Given the description of an element on the screen output the (x, y) to click on. 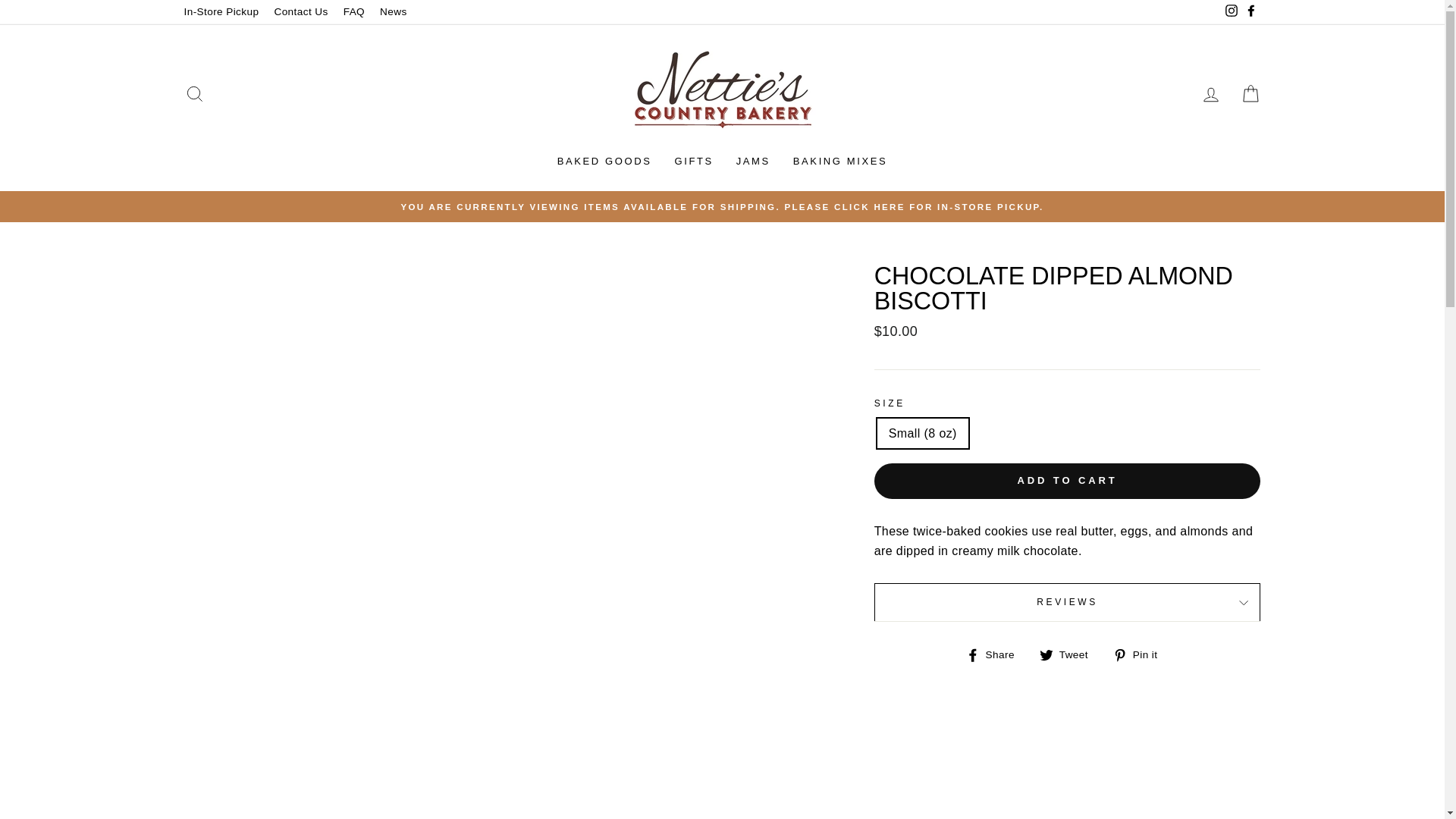
Contact Us (300, 12)
BAKED GOODS (604, 162)
SEARCH (194, 93)
News (393, 12)
Tweet on Twitter (1069, 654)
In-Store Pickup (221, 12)
LOG IN (1210, 93)
FAQ (354, 12)
Pin on Pinterest (1141, 654)
